Given the description of an element on the screen output the (x, y) to click on. 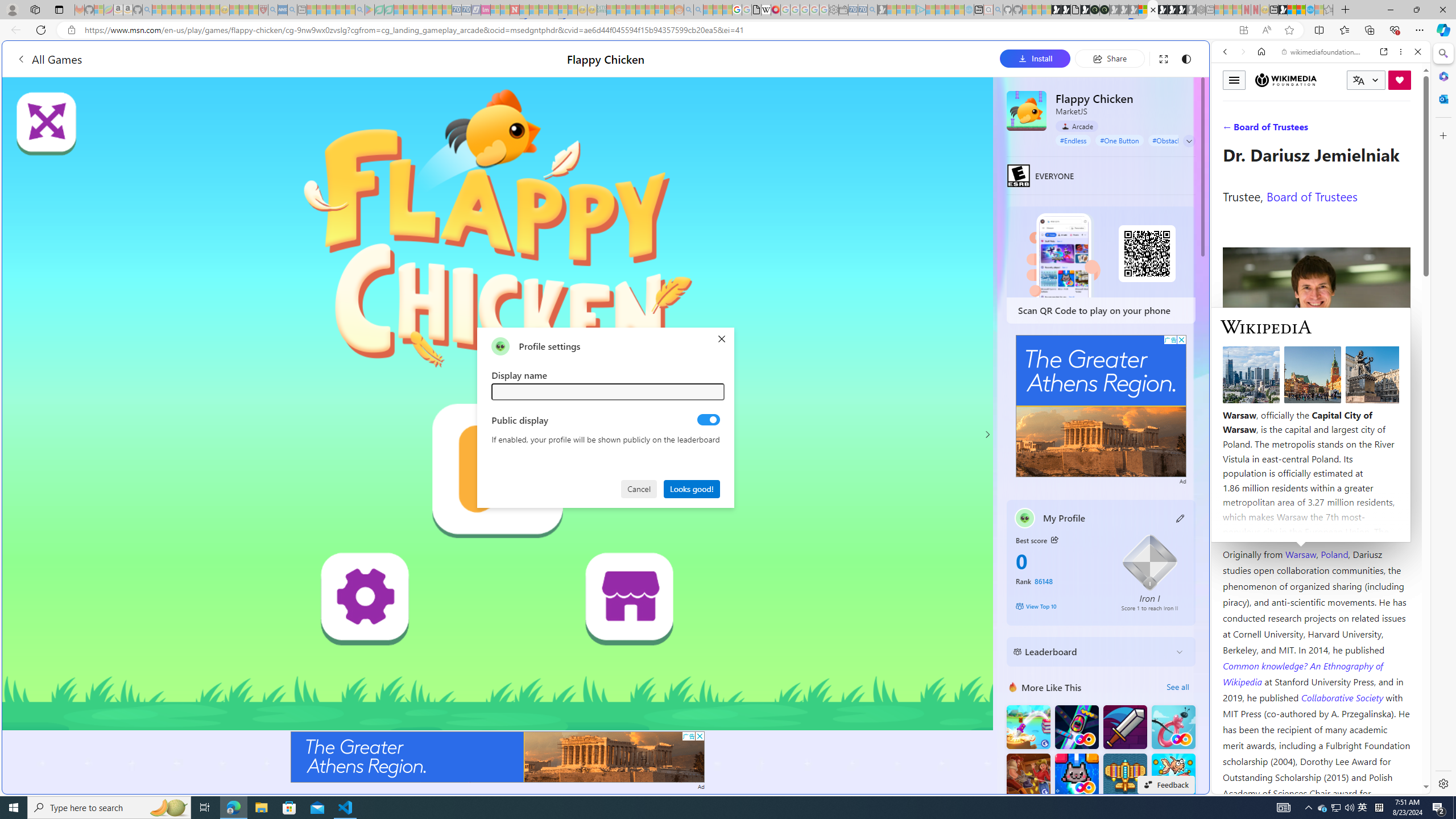
Install (1034, 58)
Frequently visited (965, 151)
Future Focus Report 2024 (1103, 9)
Close Outlook pane (1442, 98)
Feedback (1166, 784)
Tabs you've opened (885, 151)
World - MSN (1291, 9)
Cheap Hotels - Save70.com - Sleeping (466, 9)
Knife Flip (1028, 726)
Favorites - Sleeping (1328, 9)
